Given the description of an element on the screen output the (x, y) to click on. 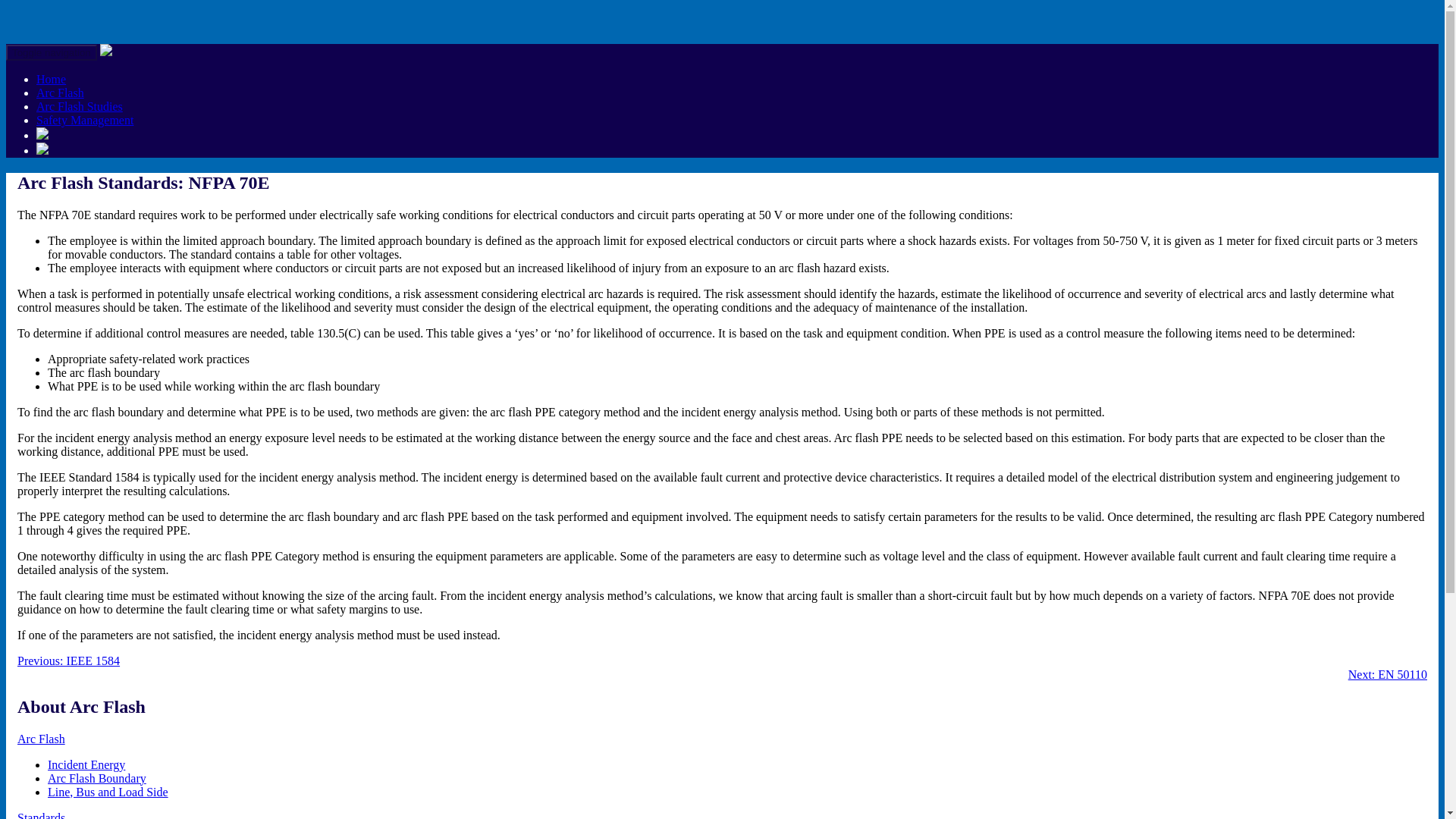
Arc Flash Boundary (97, 778)
Arc Flash (41, 738)
Safety Management (84, 119)
Next: EN 50110 (1387, 674)
Standards (41, 815)
Arc Flash Studies (79, 106)
Toggle navigation (51, 52)
Incident Energy (86, 764)
Previous: IEEE 1584 (68, 660)
Line, Bus and Load Side (108, 791)
Home (50, 78)
Arc Flash (60, 92)
